Given the description of an element on the screen output the (x, y) to click on. 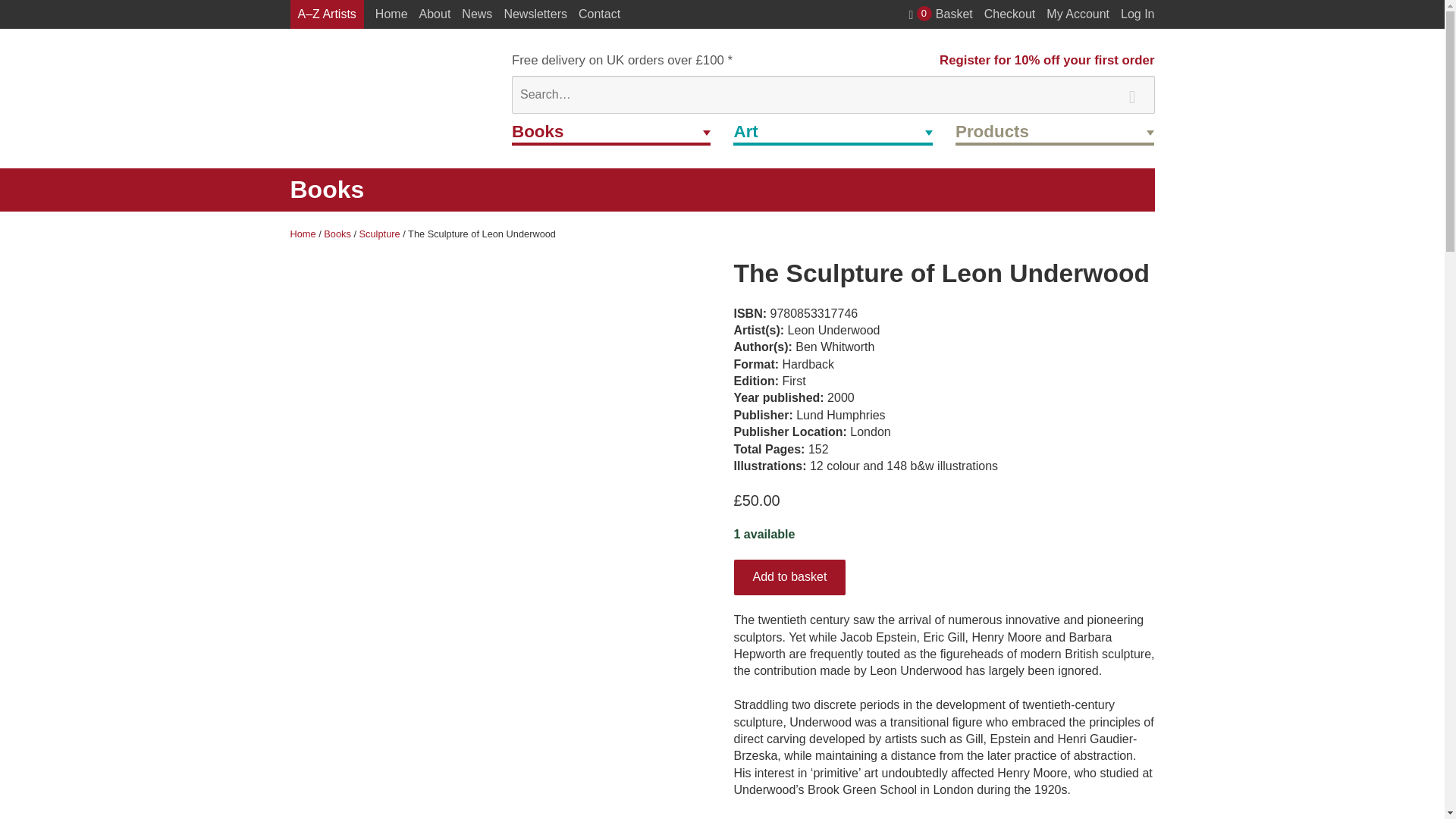
Newsletters (535, 14)
Books (611, 133)
View your basket (940, 14)
Books (611, 133)
0 Basket (940, 14)
About (435, 14)
My Account (1046, 60)
My Account (1077, 14)
Search (1131, 92)
Home (391, 14)
